Given the description of an element on the screen output the (x, y) to click on. 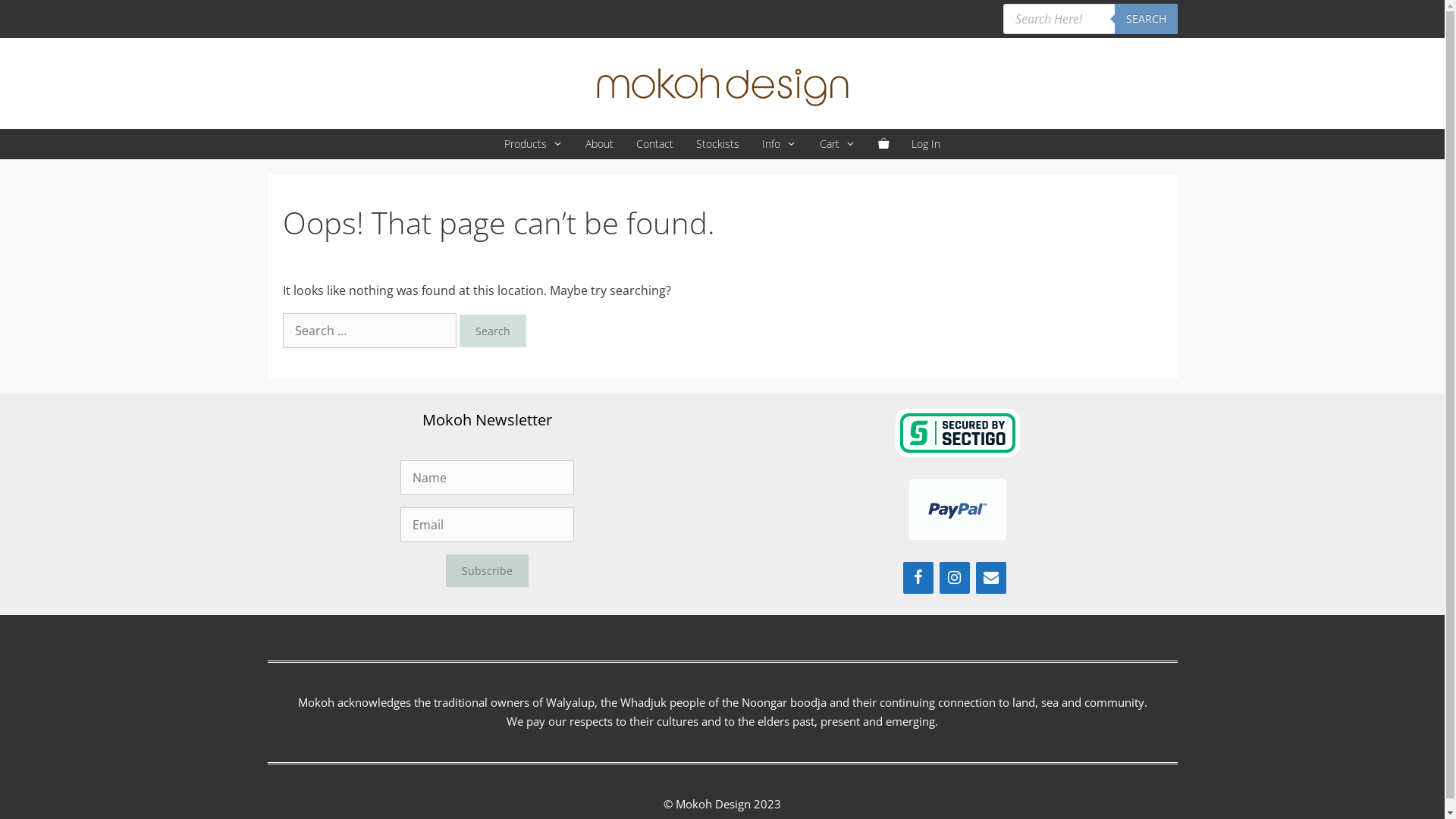
Facebook Element type: hover (917, 577)
Stockists Element type: text (717, 143)
Search for: Element type: hover (368, 330)
Contact Element type: text (654, 143)
Info Element type: text (778, 143)
Search Element type: text (492, 330)
Products Element type: text (533, 143)
Subscribe Element type: text (486, 570)
Log In Element type: text (925, 143)
View your shopping cart Element type: hover (883, 143)
SEARCH Element type: text (1145, 18)
Contact Element type: hover (990, 577)
Cart Element type: text (837, 143)
Instagram Element type: hover (953, 577)
About Element type: text (599, 143)
